Given the description of an element on the screen output the (x, y) to click on. 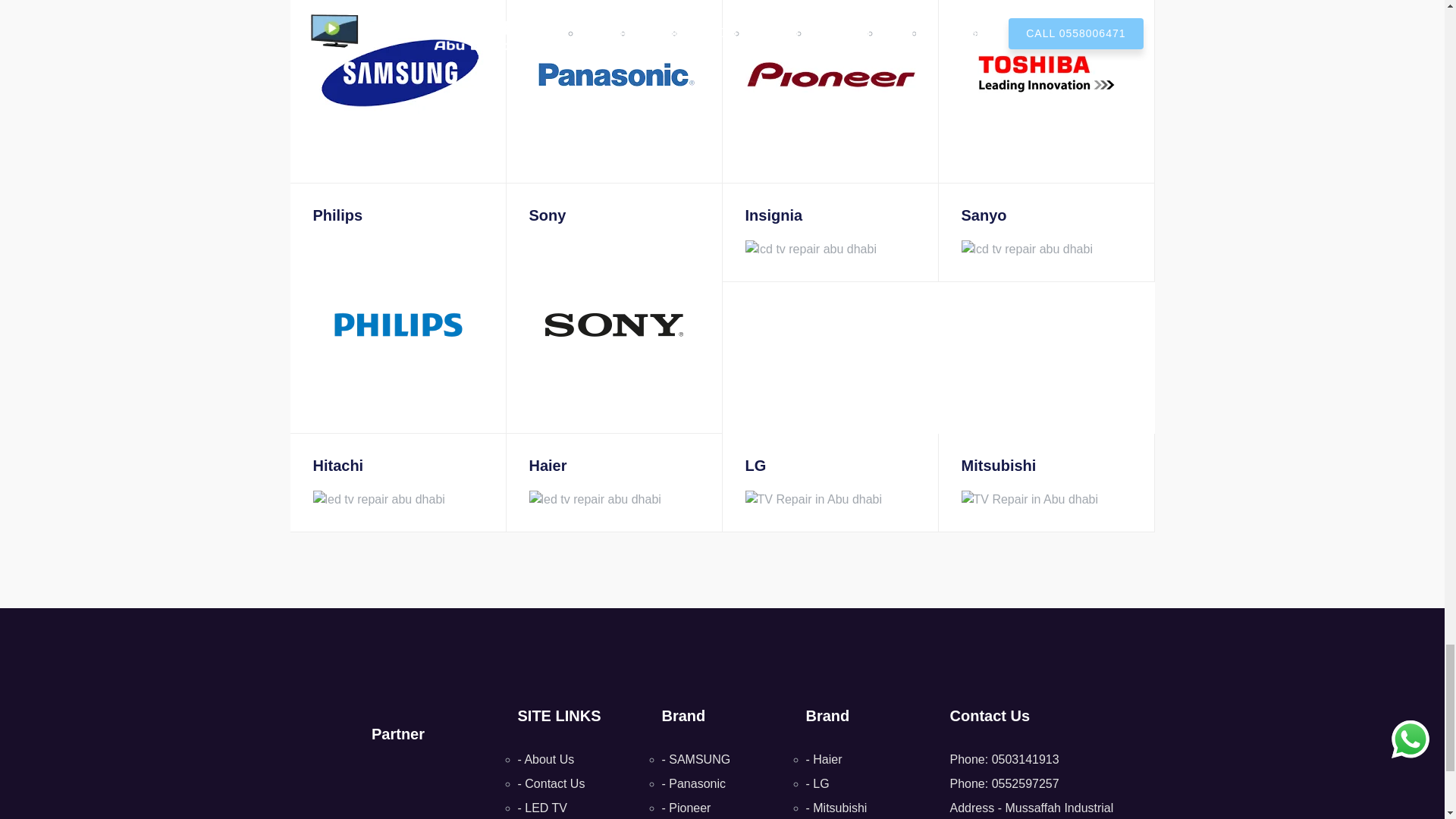
- SAMSUNG (695, 758)
- About Us (544, 758)
- LED TV (541, 807)
- LG (816, 783)
- Pioneer (685, 807)
- Contact Us (550, 783)
- Mitsubishi (835, 807)
- Haier (823, 758)
- Panasonic (693, 783)
